Given the description of an element on the screen output the (x, y) to click on. 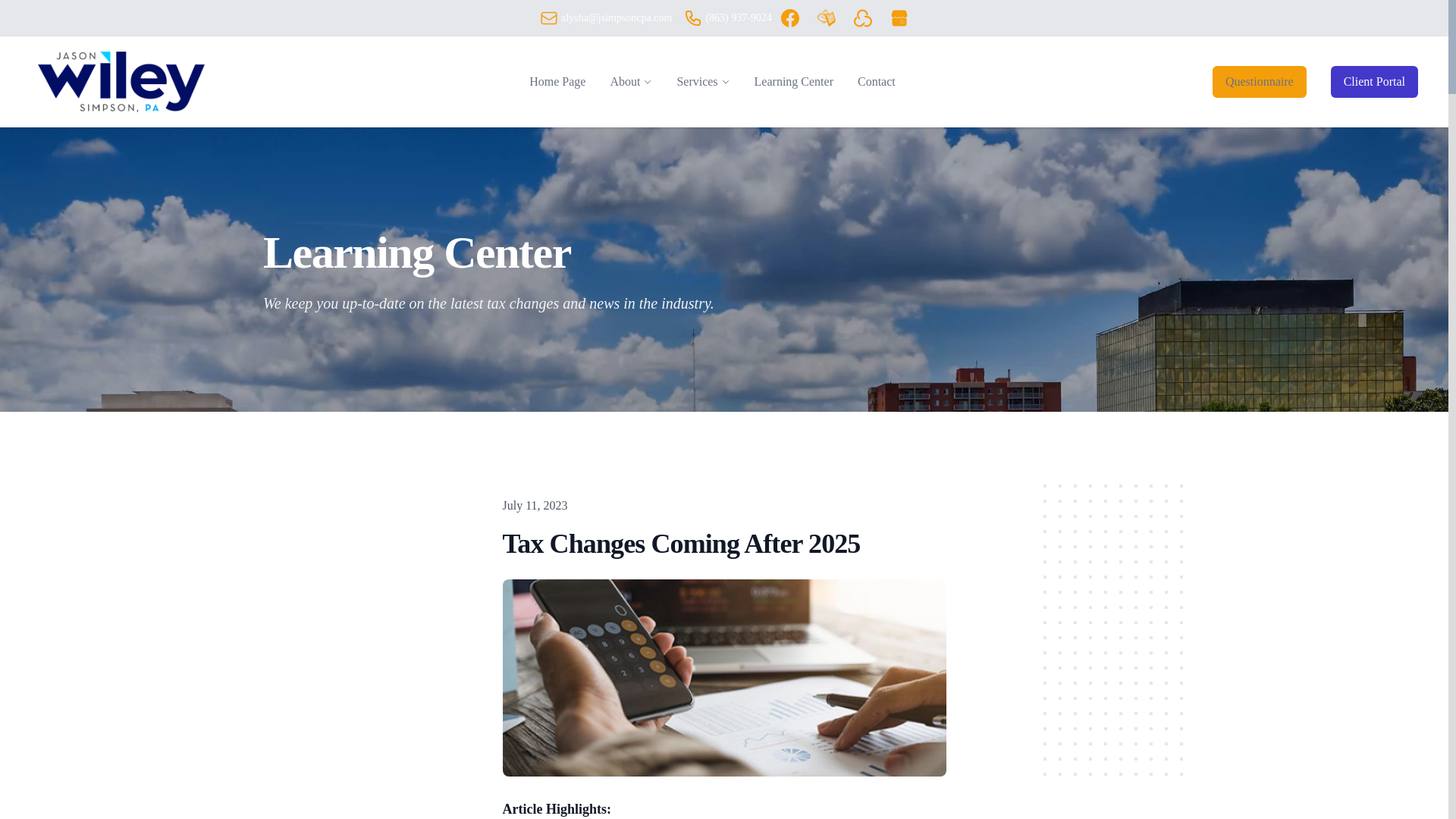
Home Page (556, 81)
phone (692, 18)
Home Page (556, 81)
Contact (876, 81)
Services (697, 81)
CountingWorks (862, 18)
Client Portal (1374, 81)
Jason W. Simpson, PA (121, 81)
About (625, 81)
Google My Business (898, 18)
Questionnaire (1259, 81)
TaxBuzz (825, 18)
Learning Center (793, 81)
Facebook (789, 18)
